Given the description of an element on the screen output the (x, y) to click on. 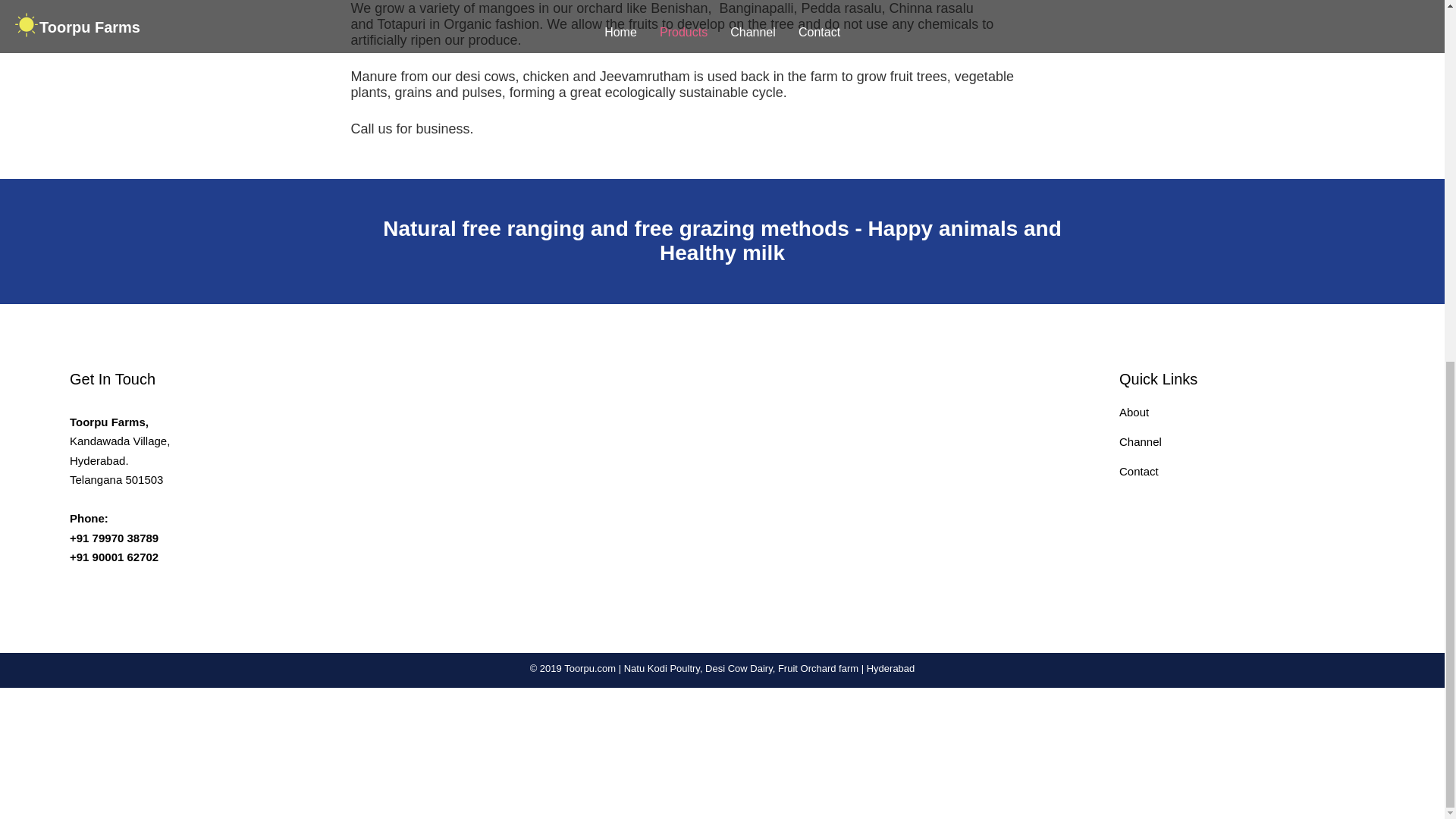
Contact (1138, 471)
Channel (1140, 440)
About (1133, 411)
